Given the description of an element on the screen output the (x, y) to click on. 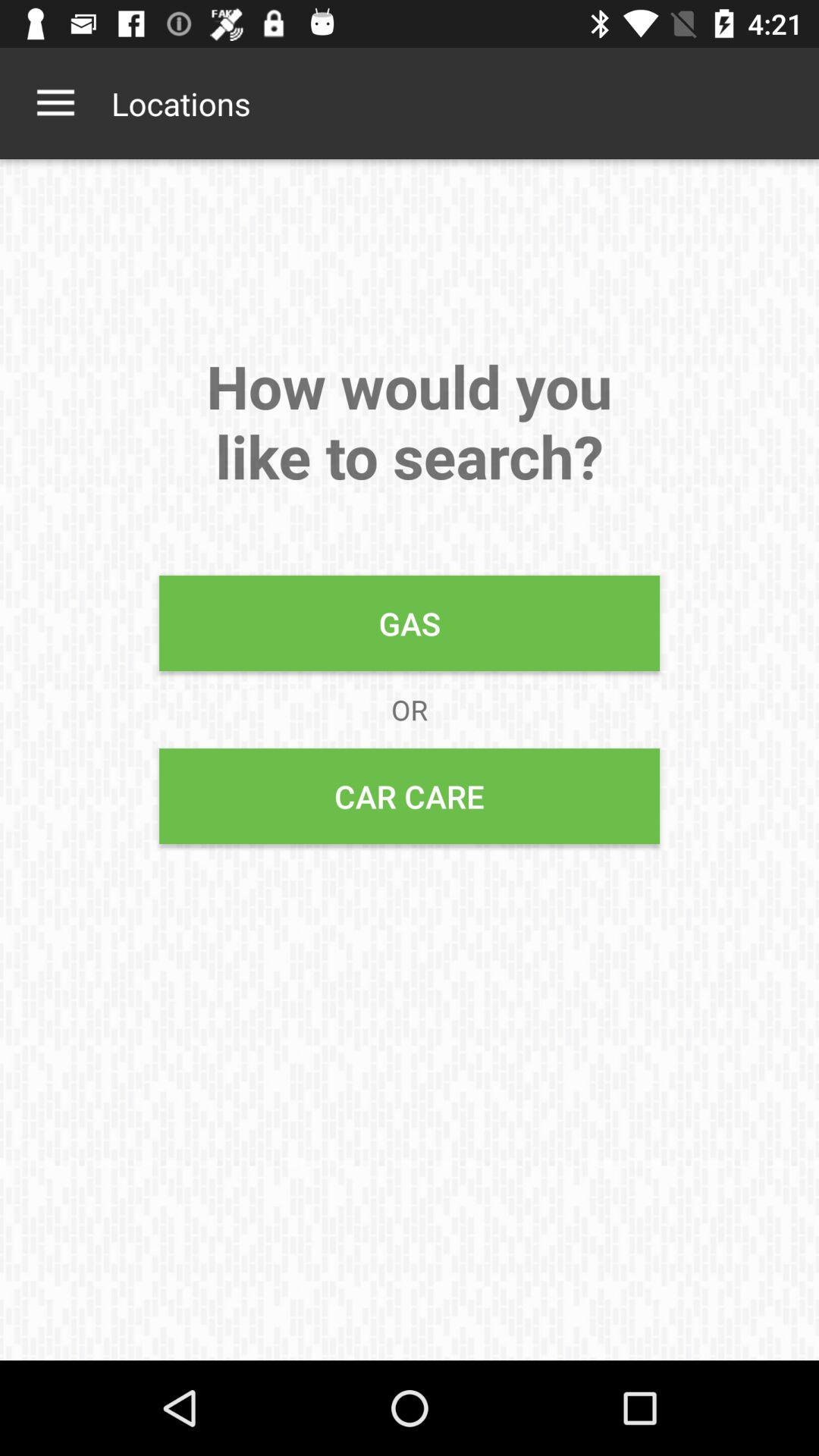
press the icon below or (409, 796)
